Given the description of an element on the screen output the (x, y) to click on. 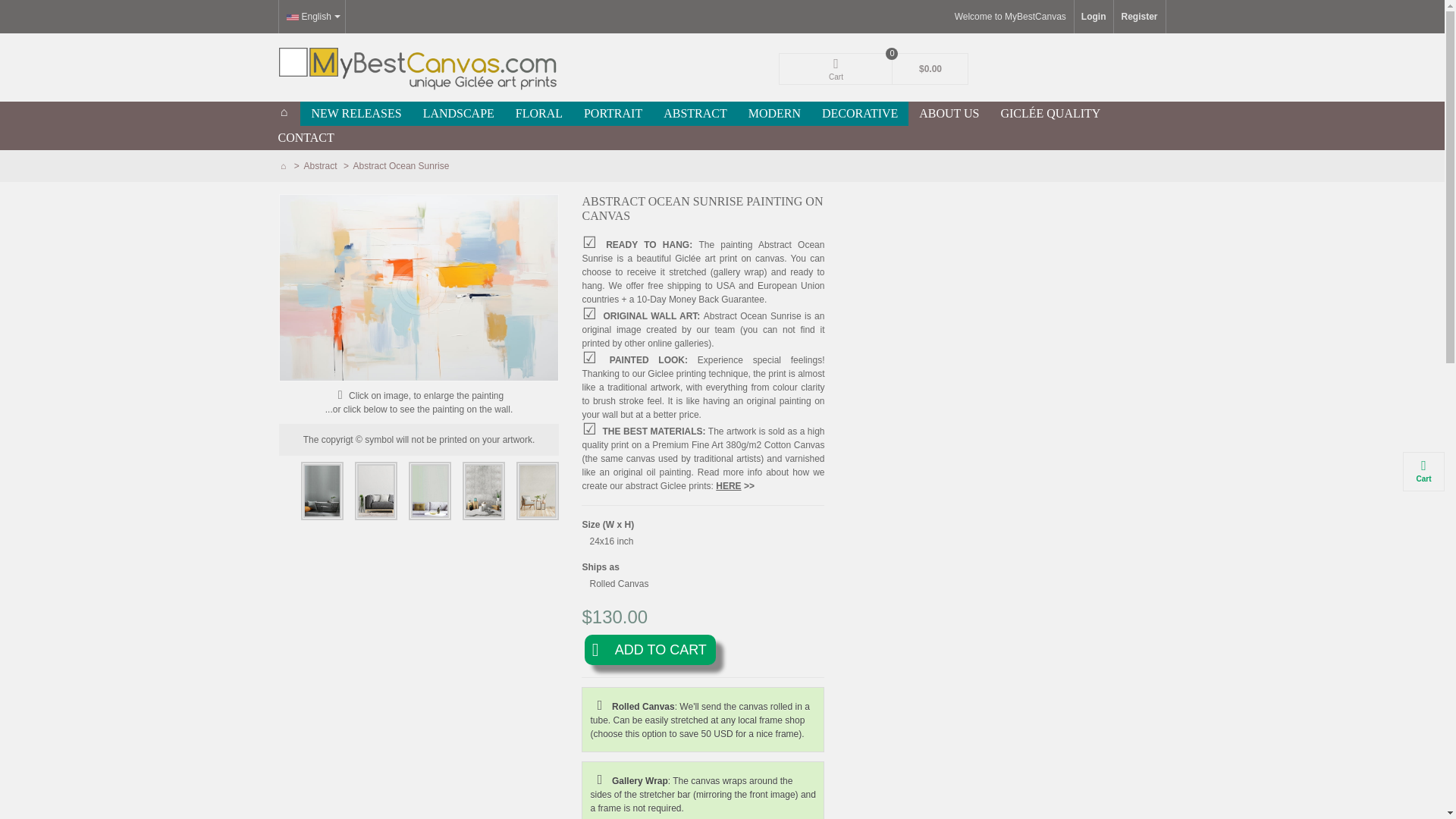
FLORAL (539, 113)
MyBestCanvas - Canvas Art Paintings For Sale (419, 67)
CONTACT (304, 137)
MODERN (774, 113)
Log In (1094, 16)
Register (1139, 16)
Decorative (859, 113)
Portrait (612, 113)
DECORATIVE (859, 113)
PORTRAIT (612, 113)
ABOUT US (949, 113)
NEW RELEASES (355, 113)
View my shopping cart (873, 69)
Abstract (321, 165)
ABSTRACT (695, 113)
